Given the description of an element on the screen output the (x, y) to click on. 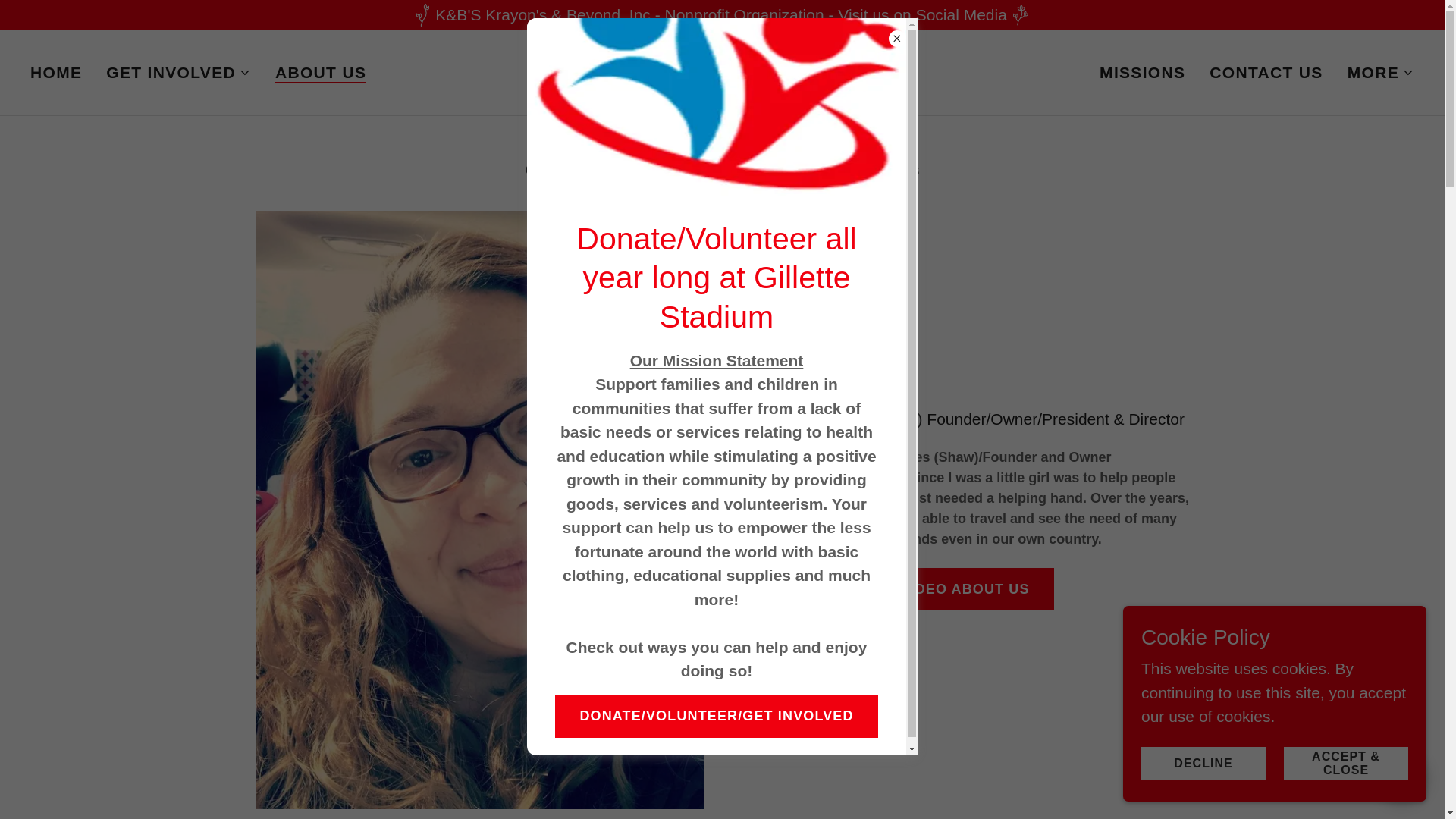
HOME (55, 72)
MORE (1380, 72)
MISSIONS (1141, 72)
CONTACT US (1265, 72)
GET INVOLVED (178, 72)
ABOUT US (320, 72)
